Given the description of an element on the screen output the (x, y) to click on. 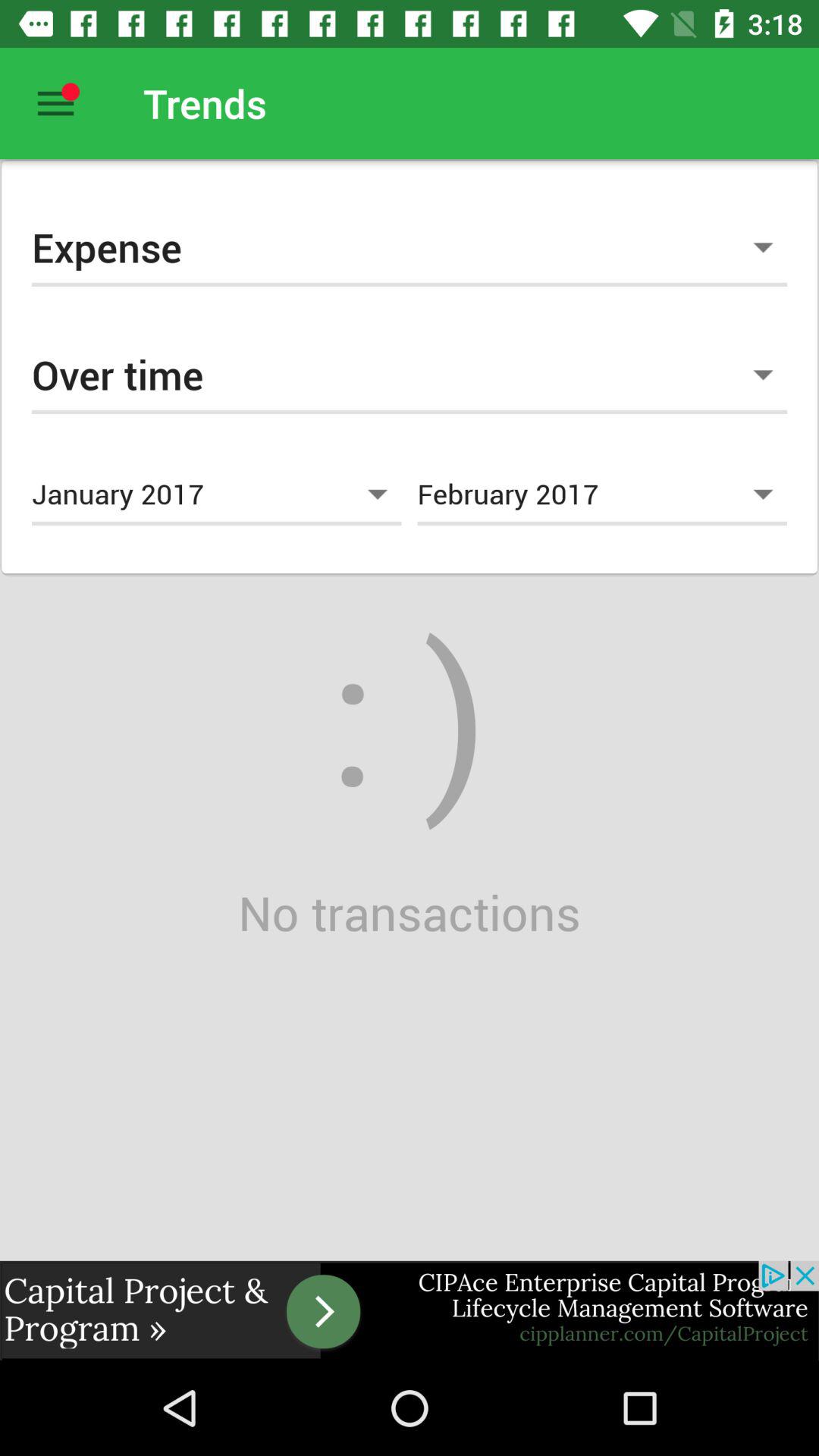
view submenues (55, 103)
